Given the description of an element on the screen output the (x, y) to click on. 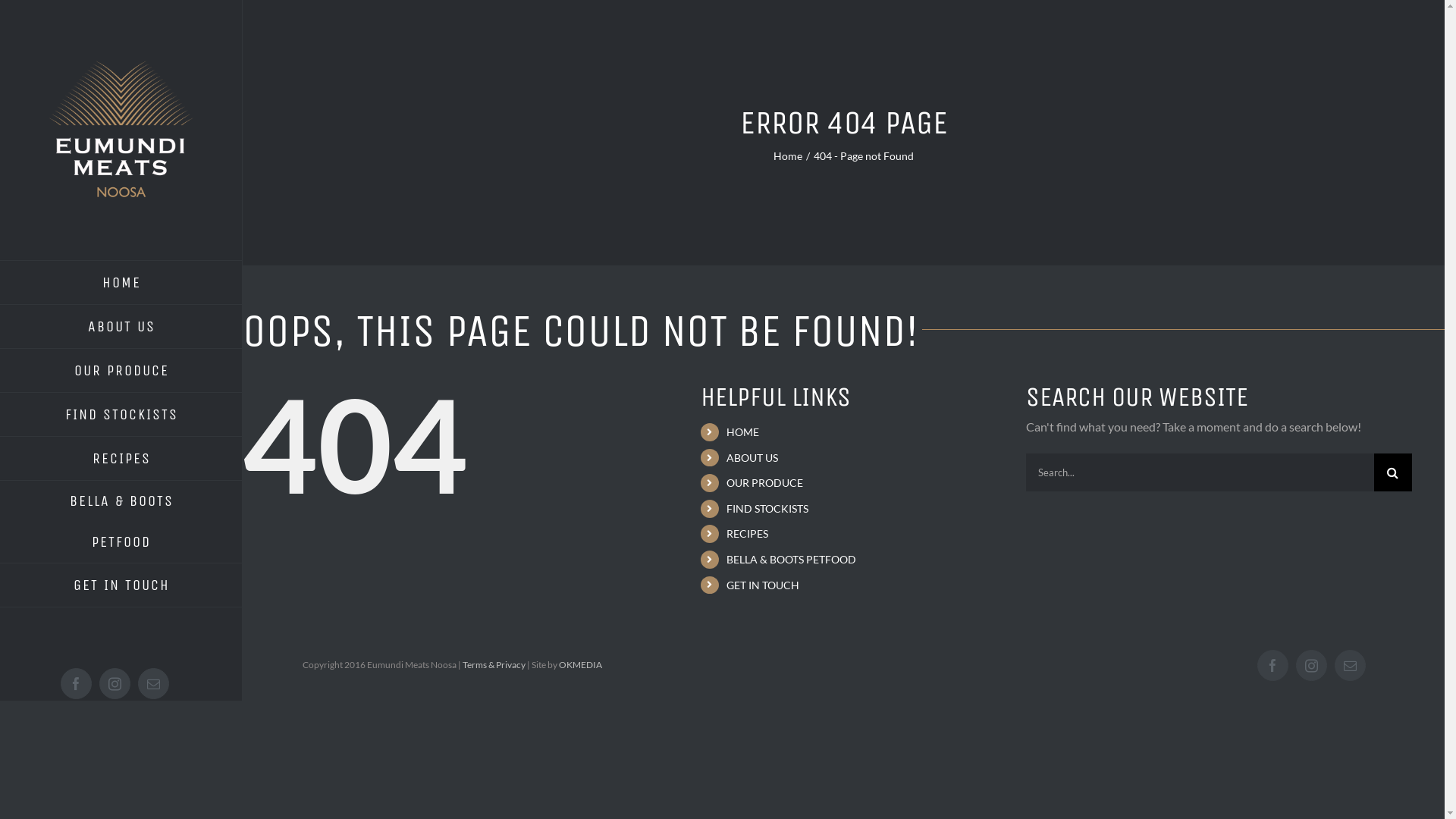
Instagram Element type: text (114, 683)
Facebook Element type: text (75, 683)
Email Element type: text (1349, 664)
Instagram Element type: text (1311, 664)
Home Element type: text (787, 155)
BELLA & BOOTS PETFOOD Element type: text (791, 558)
Email Element type: text (153, 683)
OUR PRODUCE Element type: text (121, 370)
HOME Element type: text (742, 431)
Terms & Privacy Element type: text (493, 664)
RECIPES Element type: text (121, 458)
Facebook Element type: text (1272, 664)
FIND STOCKISTS Element type: text (767, 508)
OKMEDIA Element type: text (580, 664)
HOME Element type: text (121, 282)
GET IN TOUCH Element type: text (121, 585)
BELLA & BOOTS PETFOOD Element type: text (121, 521)
ABOUT US Element type: text (752, 457)
ABOUT US Element type: text (121, 326)
OUR PRODUCE Element type: text (764, 482)
RECIPES Element type: text (747, 533)
GET IN TOUCH Element type: text (762, 584)
FIND STOCKISTS Element type: text (121, 414)
